Given the description of an element on the screen output the (x, y) to click on. 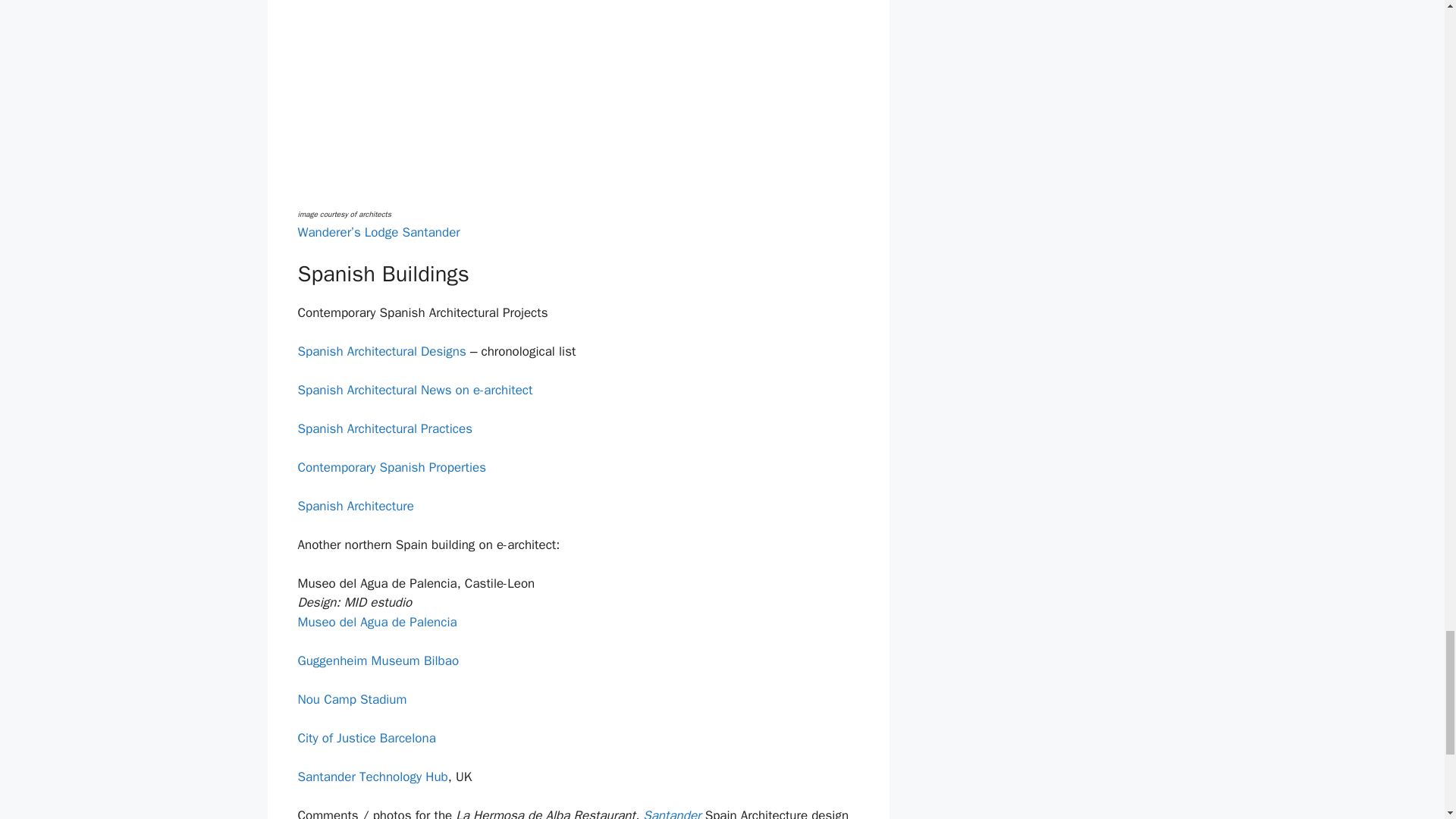
Spanish Architectural News on e-architect (414, 390)
Spanish Architectural Designs (381, 351)
Spanish Architectural Practices (384, 428)
